Given the description of an element on the screen output the (x, y) to click on. 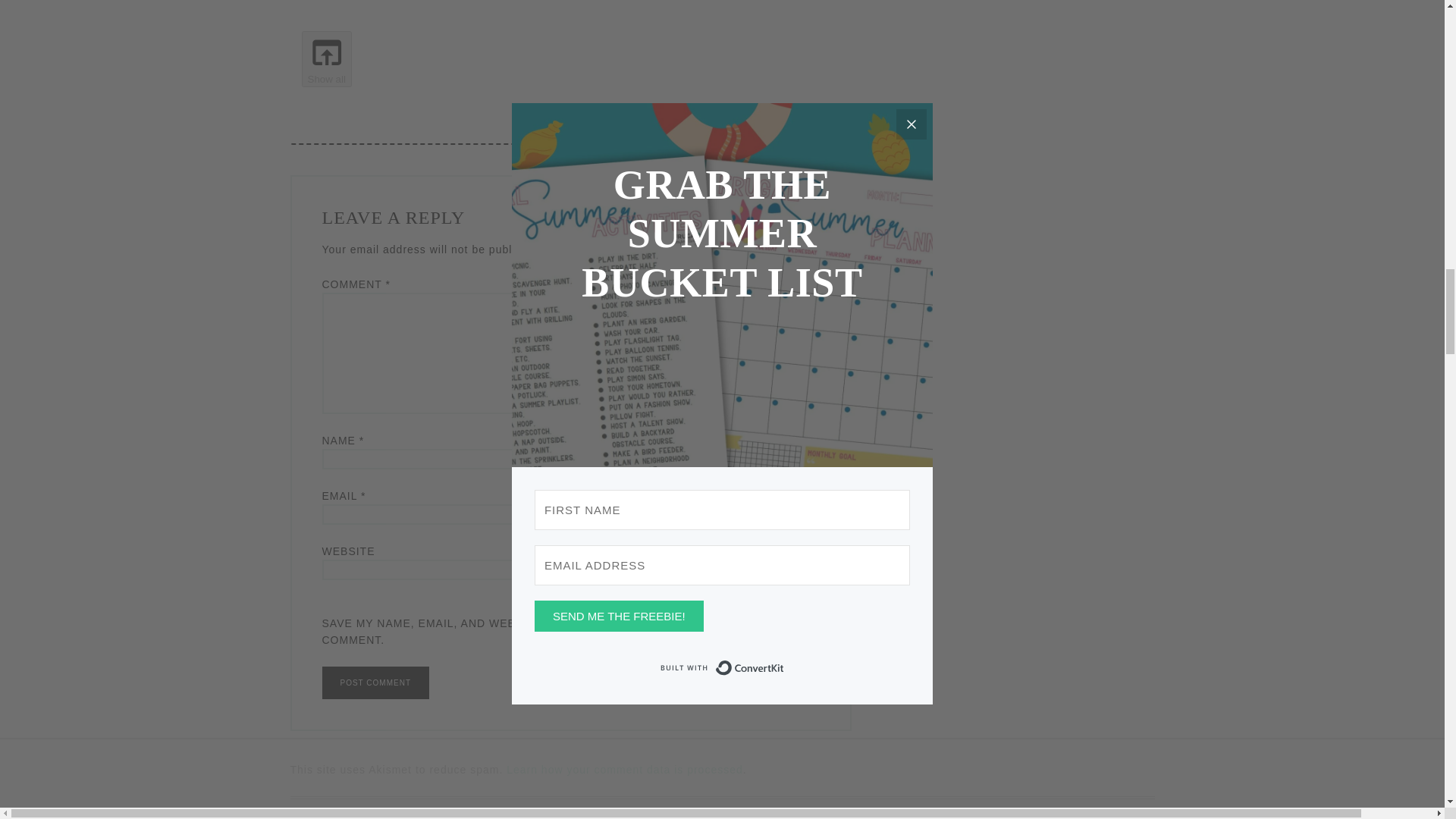
Post Comment (374, 682)
yes (569, 605)
